Given the description of an element on the screen output the (x, y) to click on. 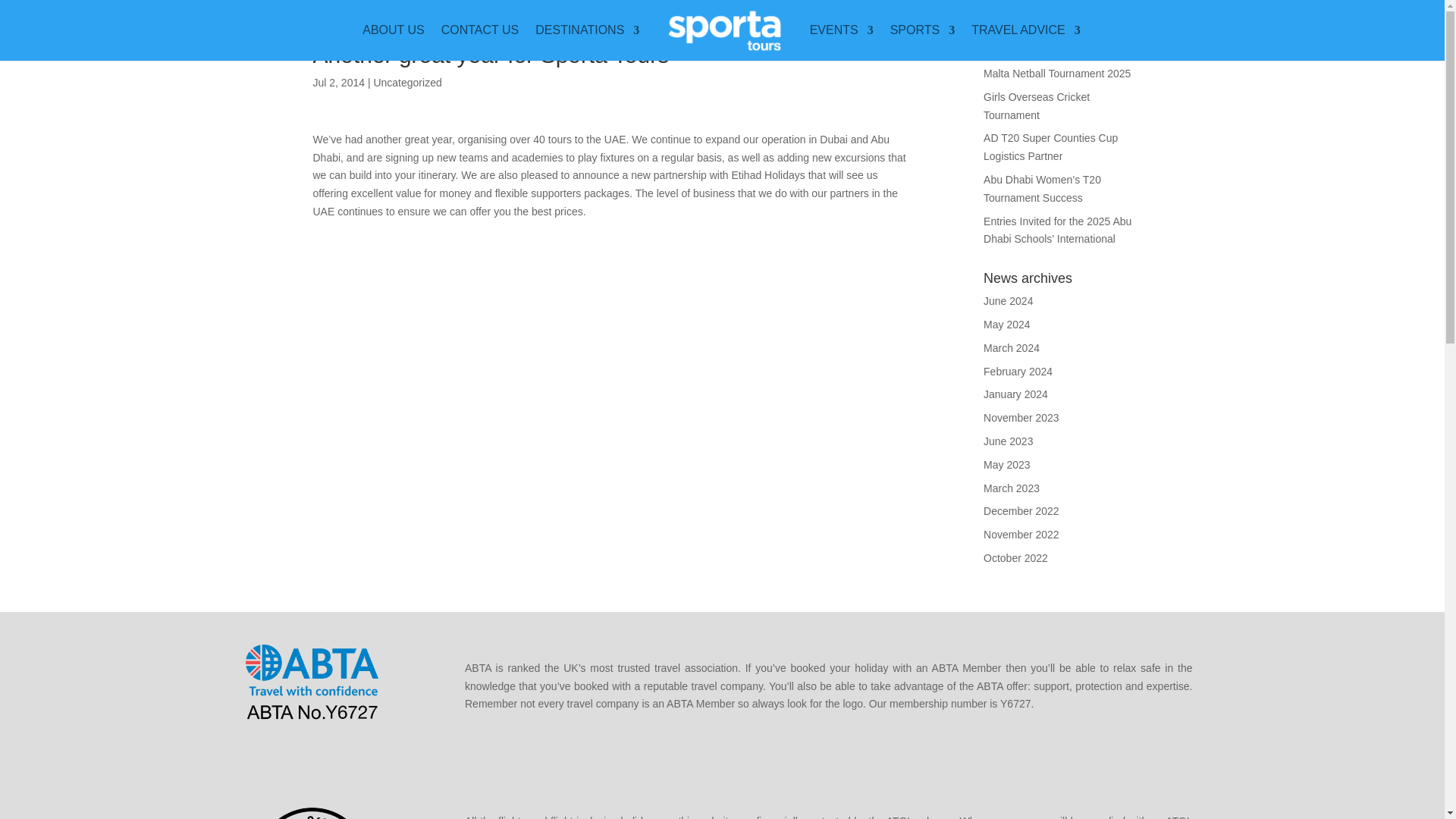
ABOUT US (393, 42)
EVENTS (841, 42)
DESTINATIONS (587, 42)
TRAVEL ADVICE (1025, 42)
Page 2 (828, 686)
SPORTS (922, 42)
CONTACT US (480, 42)
